Given the description of an element on the screen output the (x, y) to click on. 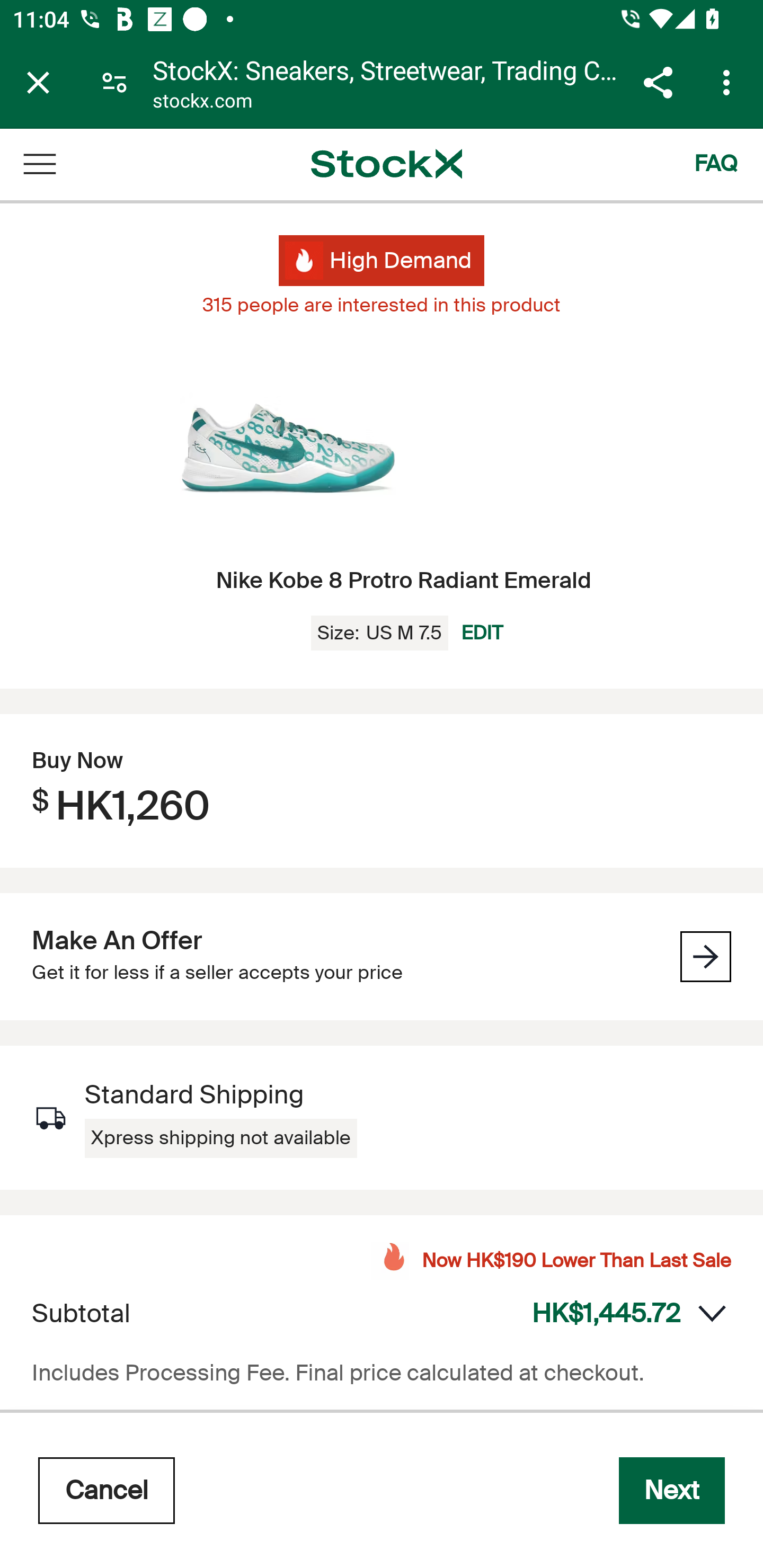
Close tab (38, 82)
Share (657, 82)
Customize and control Google Chrome (729, 82)
Connection is secure (114, 81)
stockx.com (202, 103)
